Given the description of an element on the screen output the (x, y) to click on. 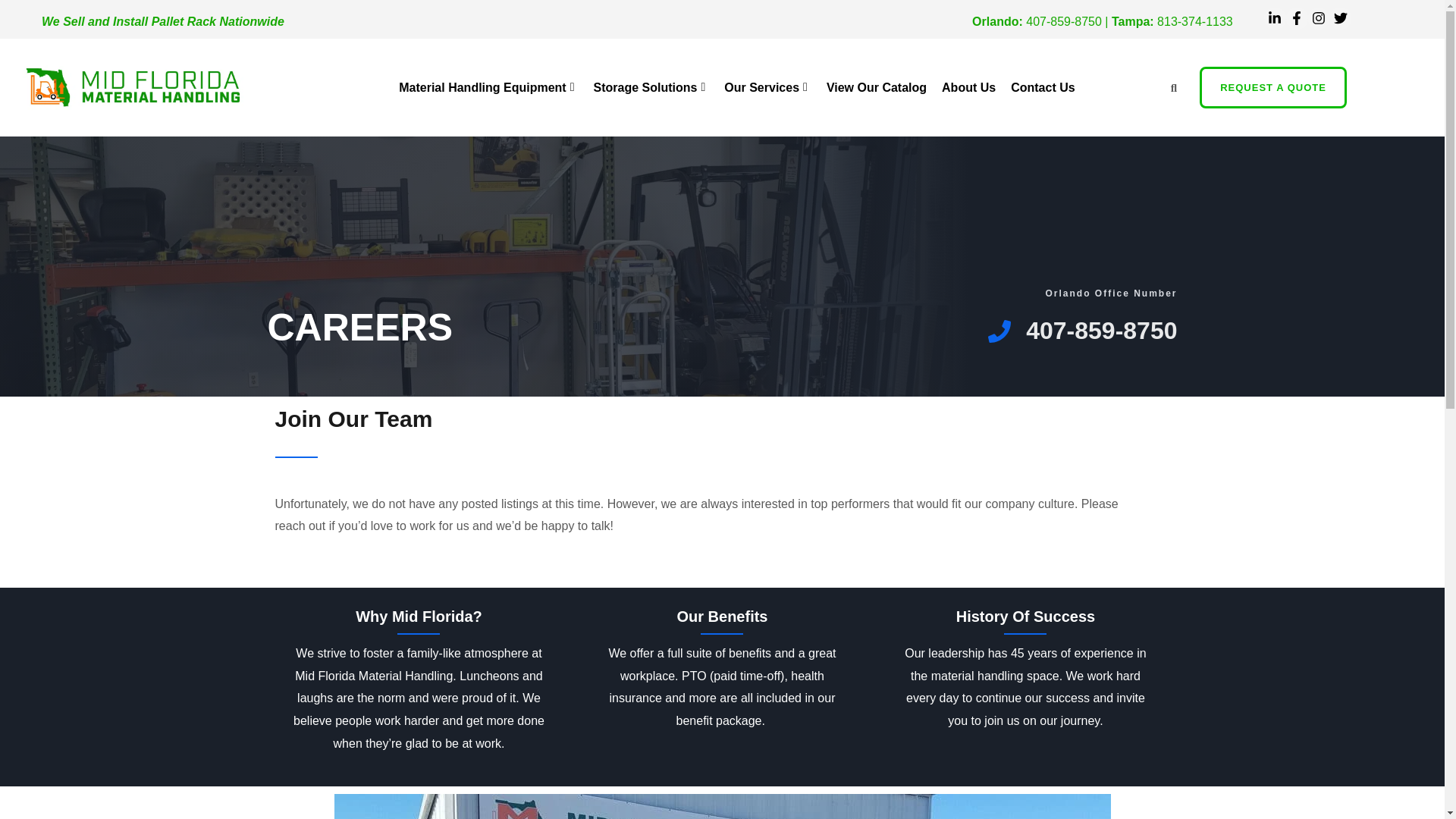
Instagram (1318, 18)
Facebook-f (1296, 18)
Linkedin-in (1274, 18)
Search (1169, 87)
Twitter (1340, 18)
Material Handling Equipment (488, 86)
